Given the description of an element on the screen output the (x, y) to click on. 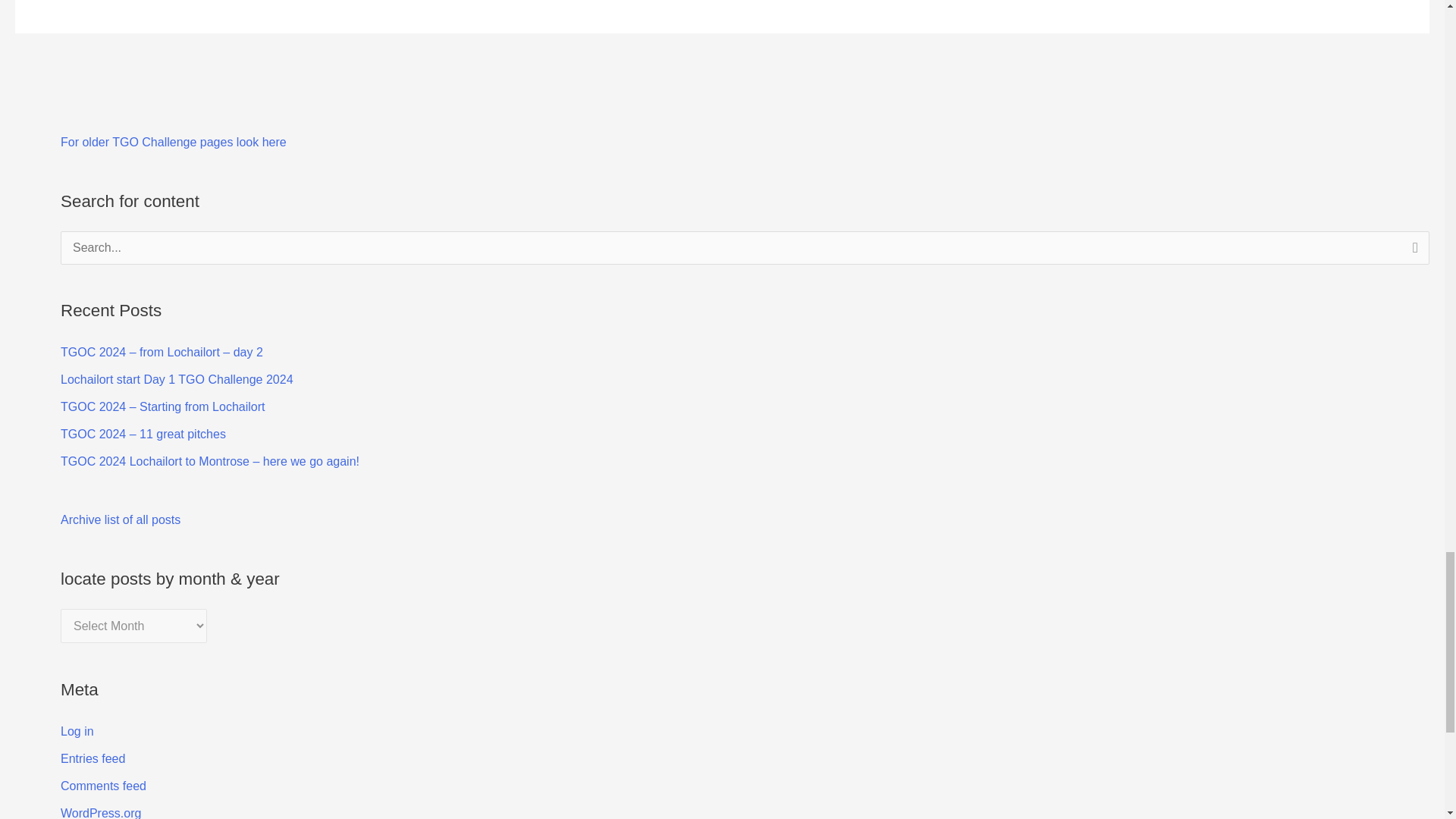
For older TGO Challenge pages look here (173, 141)
Lochailort start Day 1 TGO Challenge 2024 (177, 379)
Archive list of all posts (120, 519)
